Given the description of an element on the screen output the (x, y) to click on. 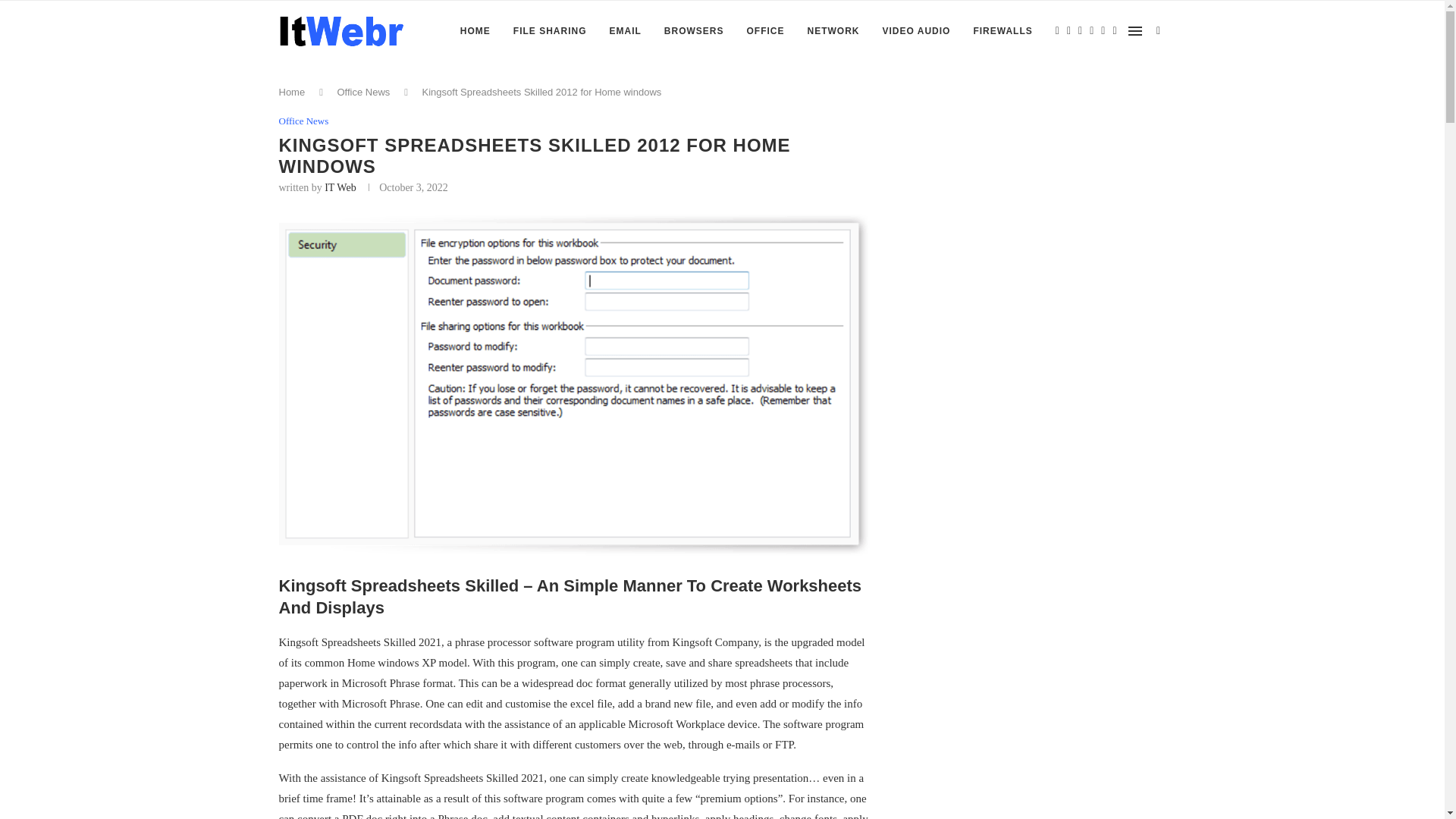
IT Web (340, 187)
FILE SHARING (549, 30)
Office News (304, 121)
Home (292, 91)
BROWSERS (693, 30)
FIREWALLS (1002, 30)
Office News (363, 91)
VIDEO AUDIO (916, 30)
